Given the description of an element on the screen output the (x, y) to click on. 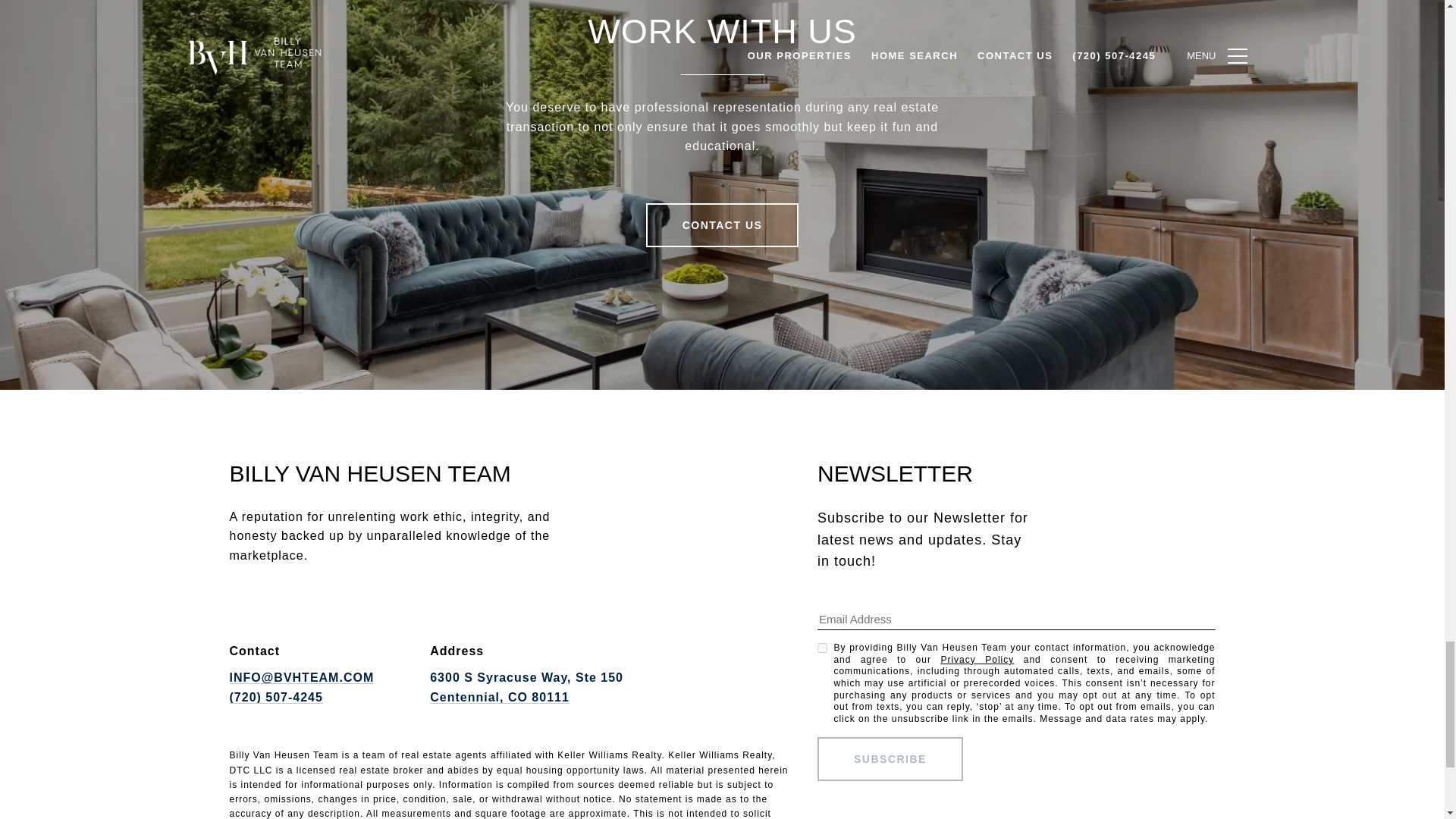
on (821, 647)
SUBSCRIBE (889, 759)
CONTACT US (722, 225)
